Given the description of an element on the screen output the (x, y) to click on. 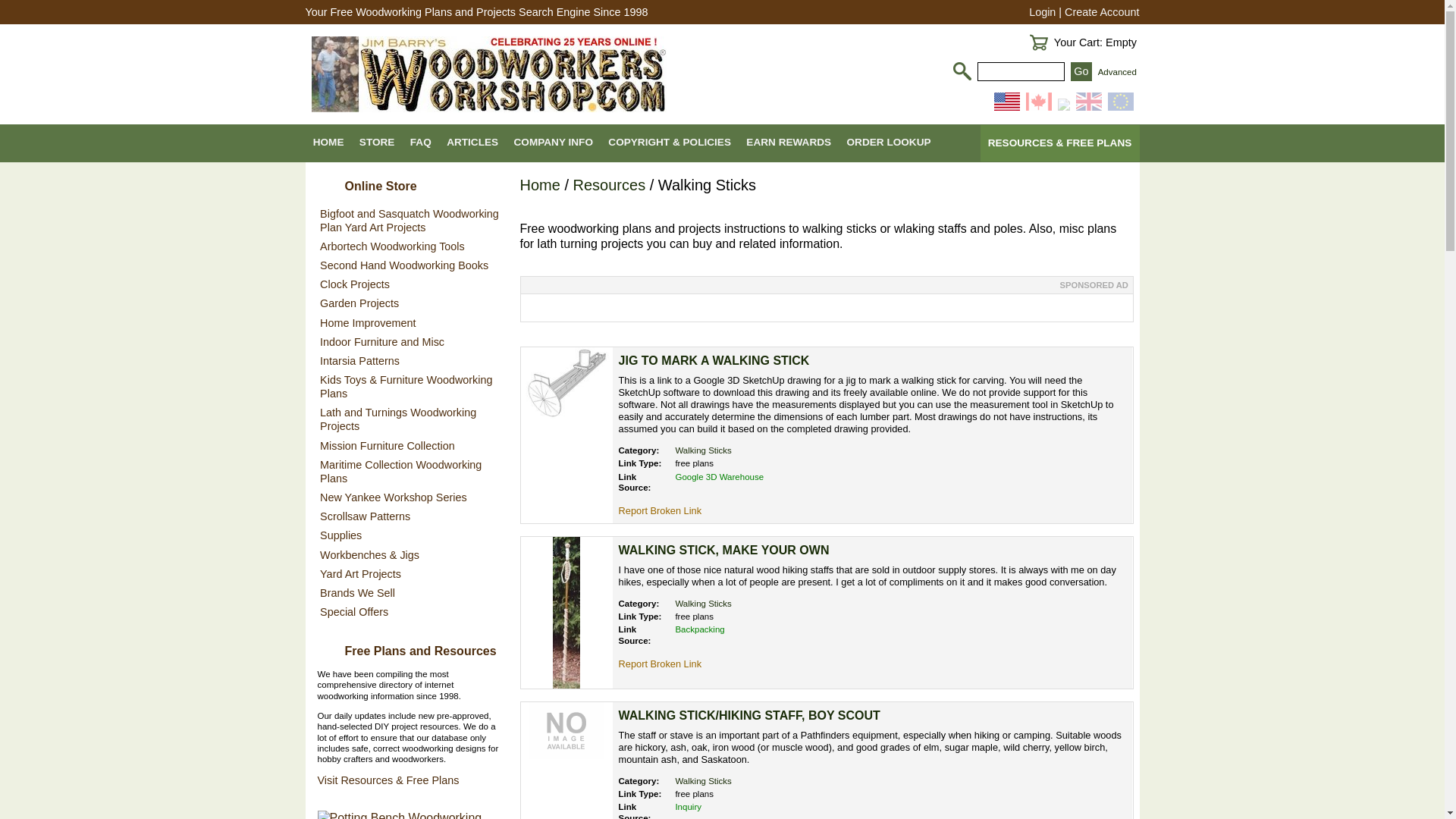
Report Broken Link (659, 510)
Walking Sticks (702, 450)
Resources (609, 184)
Walking Stick, Make your own (723, 549)
Resources (609, 184)
JIG TO MARK A WALKING STICK (713, 359)
Home (539, 184)
Walking Sticks (702, 603)
Home (539, 184)
Walking Sticks (702, 780)
Advertisement (826, 306)
Walking Sticks (702, 603)
Walking Sticks (702, 450)
Walking Sticks (702, 780)
Jig to mark a walking stick (565, 382)
